Given the description of an element on the screen output the (x, y) to click on. 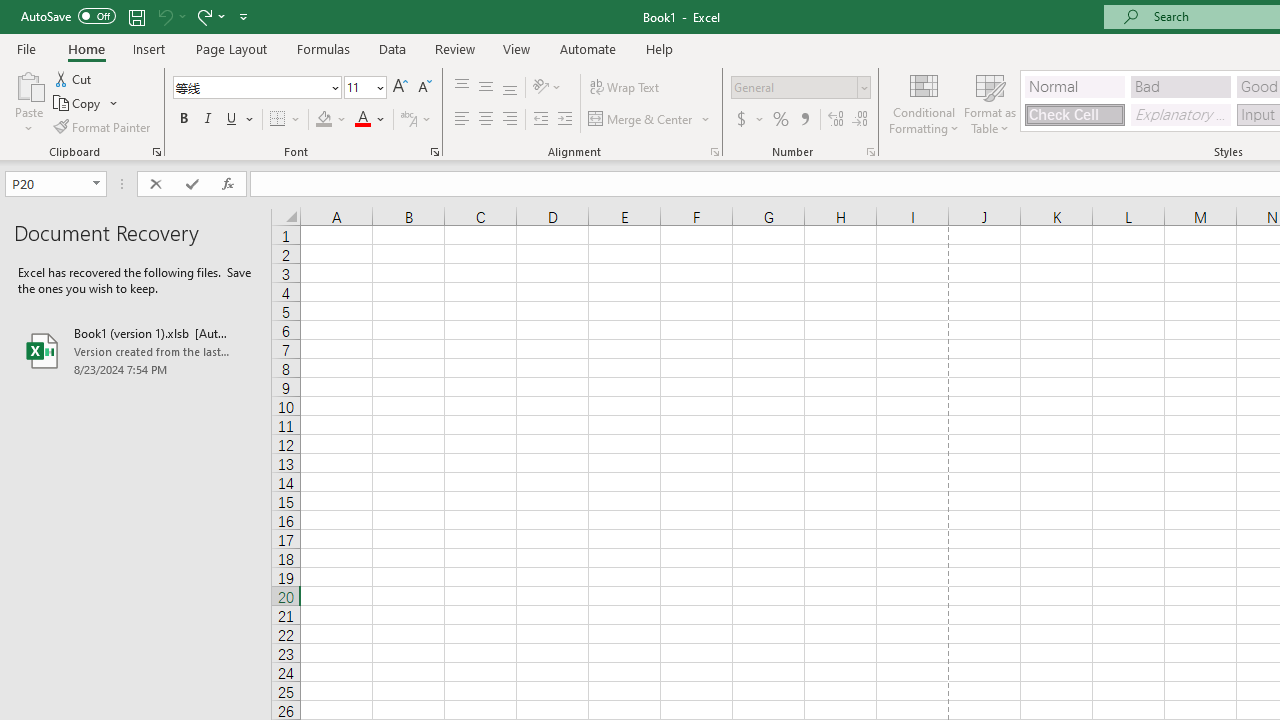
Underline (232, 119)
Data (392, 48)
Save (136, 15)
Font Size (358, 87)
Top Align (461, 87)
Italic (207, 119)
Orientation (547, 87)
Comma Style (804, 119)
Accounting Number Format (749, 119)
Open (96, 183)
Merge & Center (649, 119)
Format Cell Font (434, 151)
Bottom Align (509, 87)
